Given the description of an element on the screen output the (x, y) to click on. 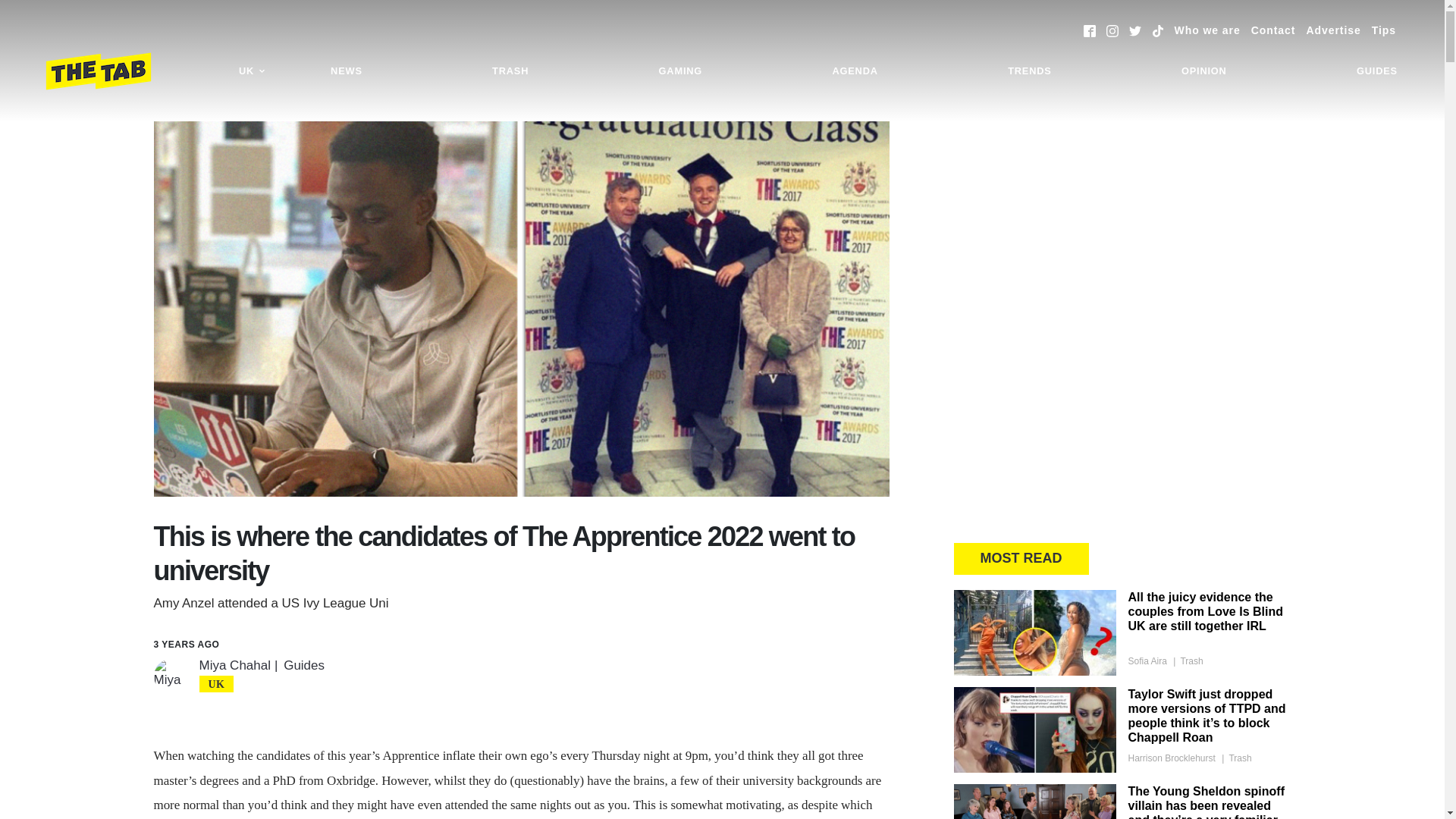
Advertise (1332, 29)
AGENDA (854, 71)
NEWS (346, 71)
Who we are (1207, 29)
UK (252, 71)
TRASH (510, 71)
Contact (1272, 29)
OPINION (1204, 71)
Tips (1383, 29)
TRENDS (1028, 71)
